Given the description of an element on the screen output the (x, y) to click on. 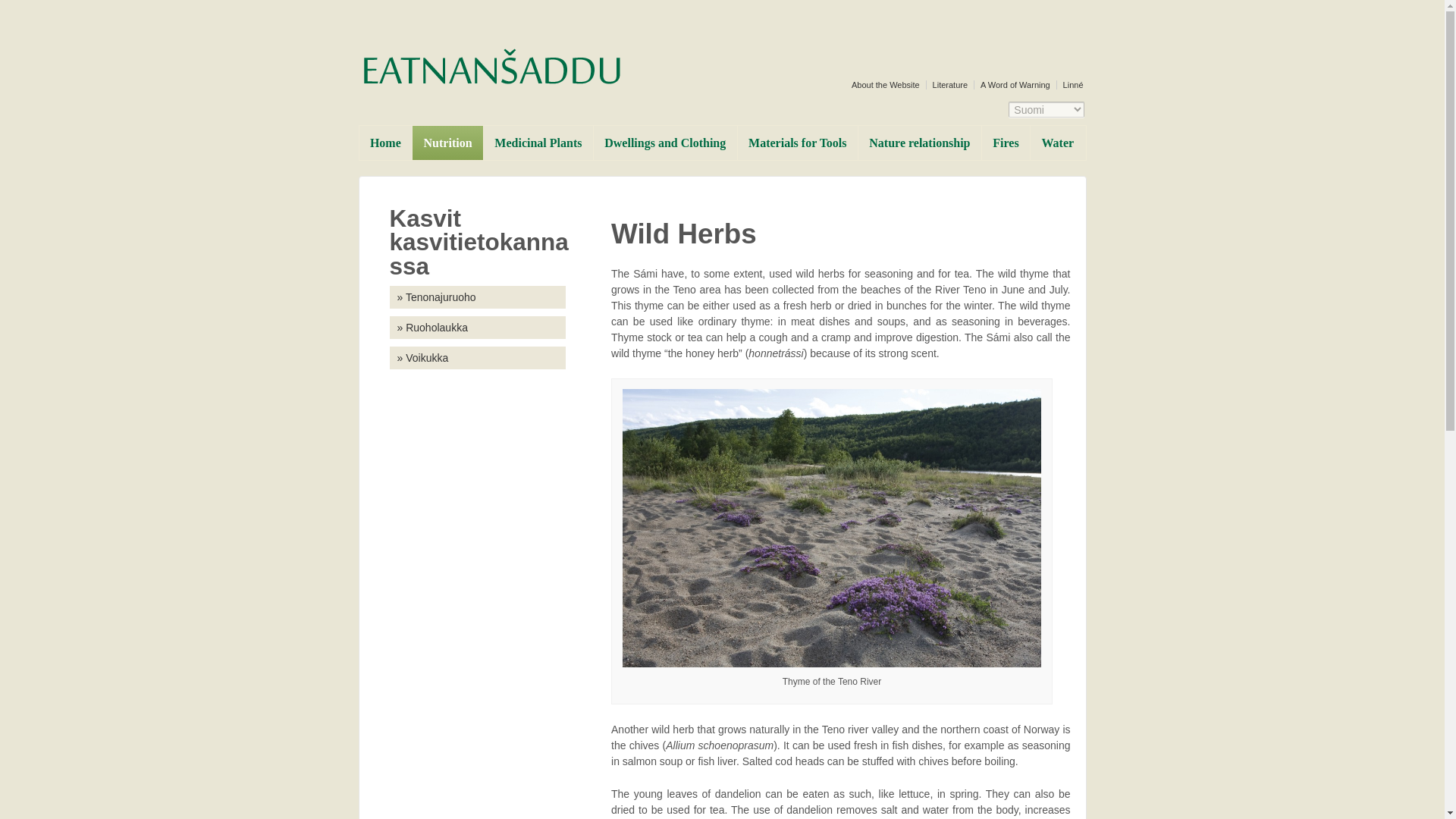
Water (1056, 142)
Fires (1005, 142)
Home (385, 142)
About the Website (884, 84)
Nature relationship (919, 142)
Dwellings and Clothing (664, 142)
A Word of Warning (1013, 84)
Literature (948, 84)
Medicinal Plants (537, 142)
Nutrition (447, 142)
Materials for Tools (796, 142)
